Given the description of an element on the screen output the (x, y) to click on. 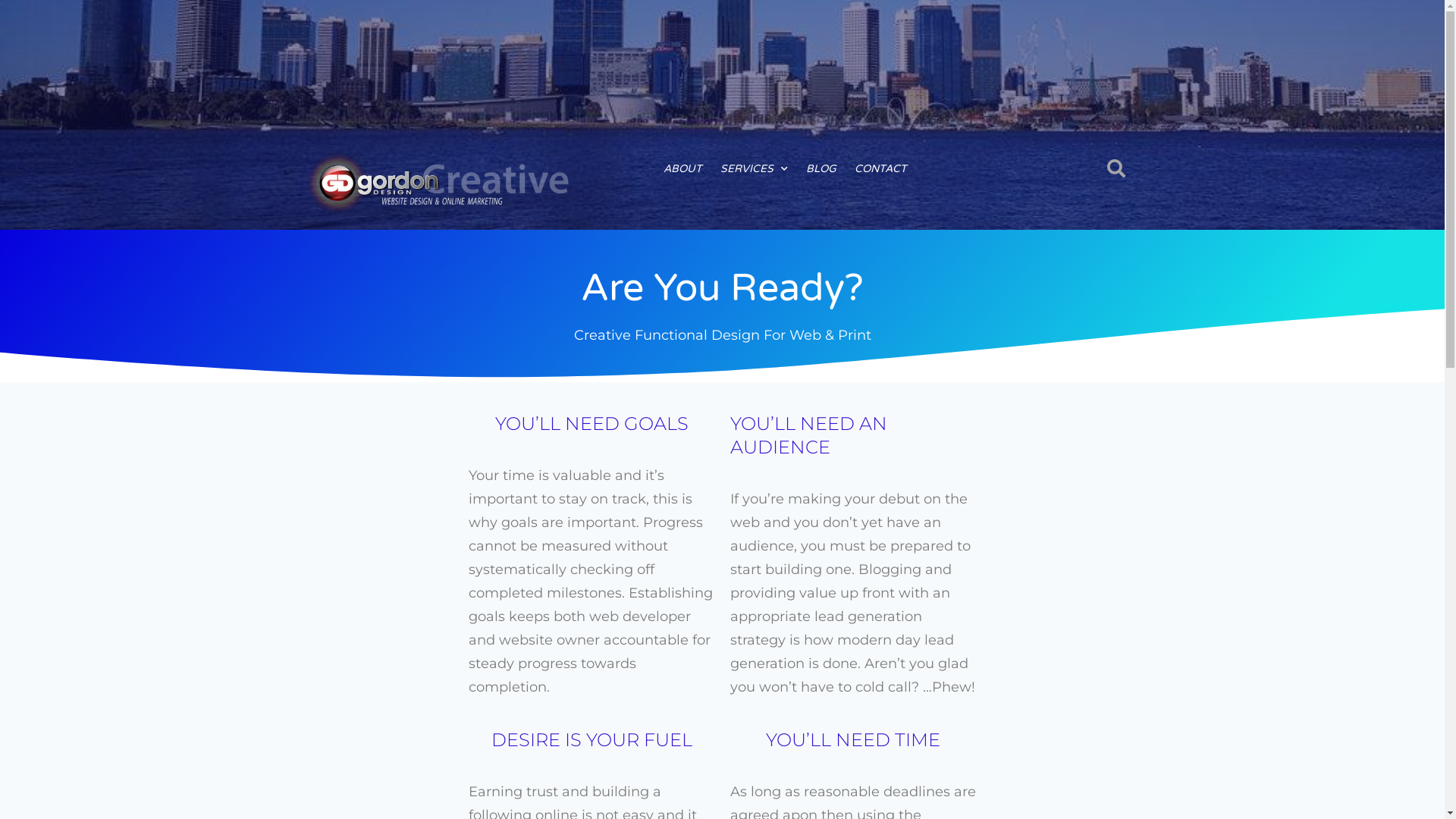
CONTACT Element type: text (880, 168)
Search Element type: hover (1111, 168)
BLOG Element type: text (821, 168)
ABOUT Element type: text (682, 168)
SERVICES Element type: text (753, 168)
